Given the description of an element on the screen output the (x, y) to click on. 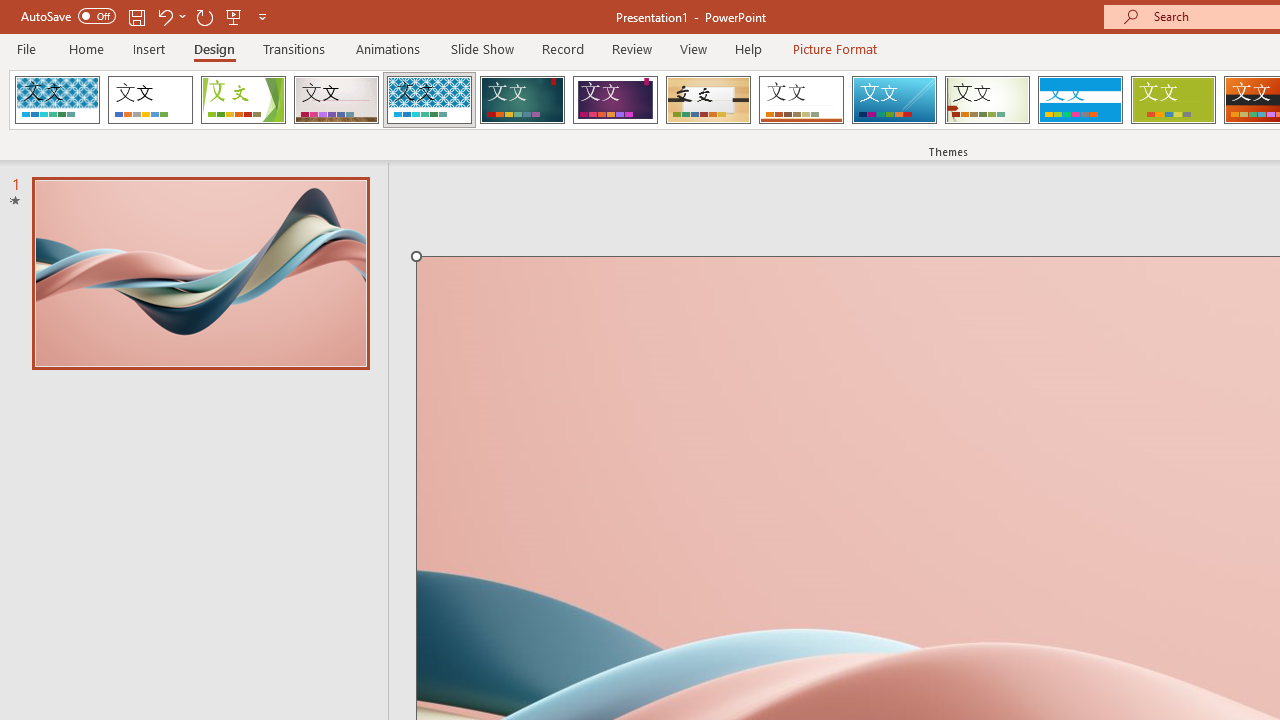
Integral (429, 100)
Organic (708, 100)
Gallery (336, 100)
Basis (1172, 100)
